Given the description of an element on the screen output the (x, y) to click on. 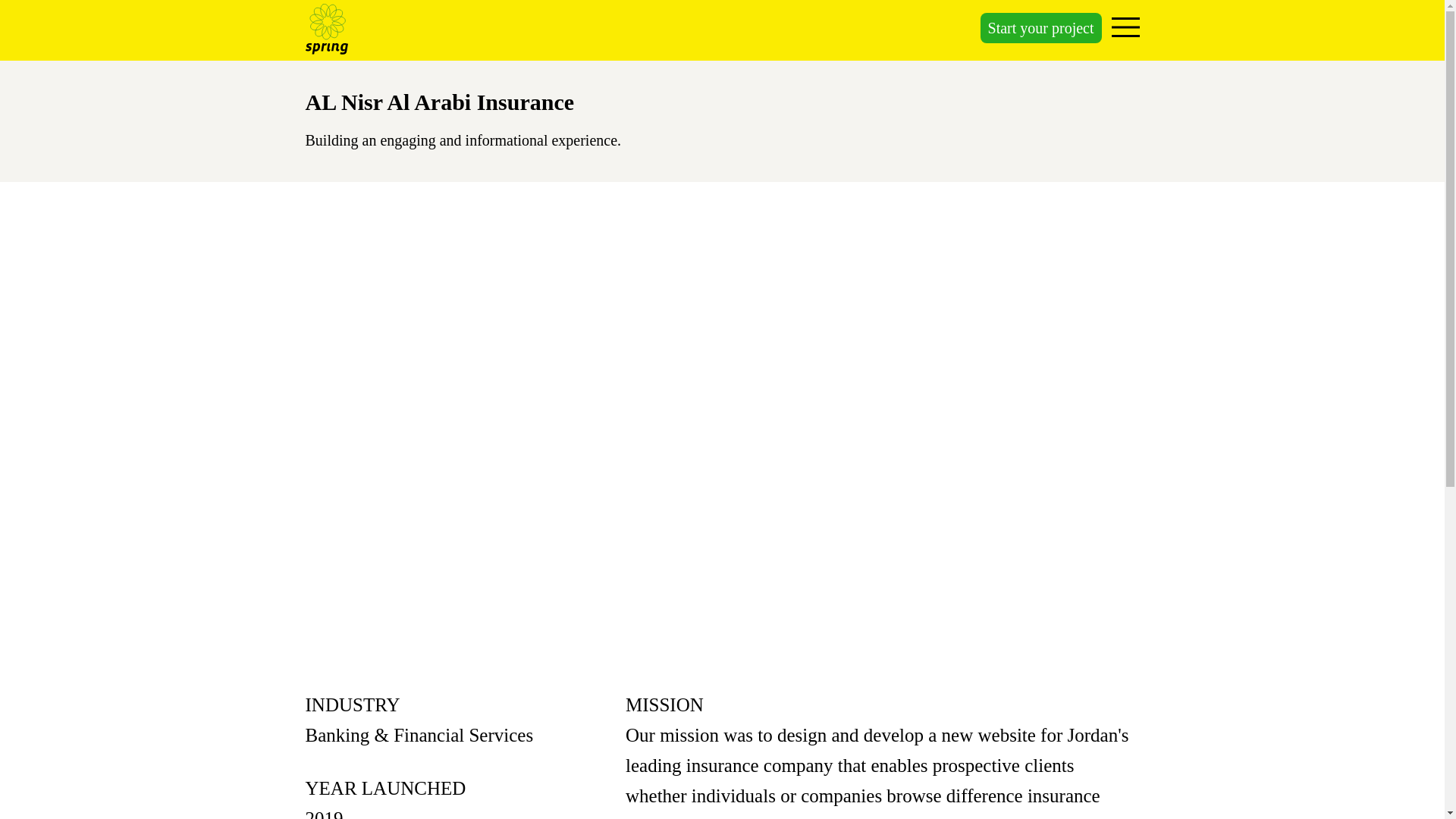
Start your project (1040, 28)
